Given the description of an element on the screen output the (x, y) to click on. 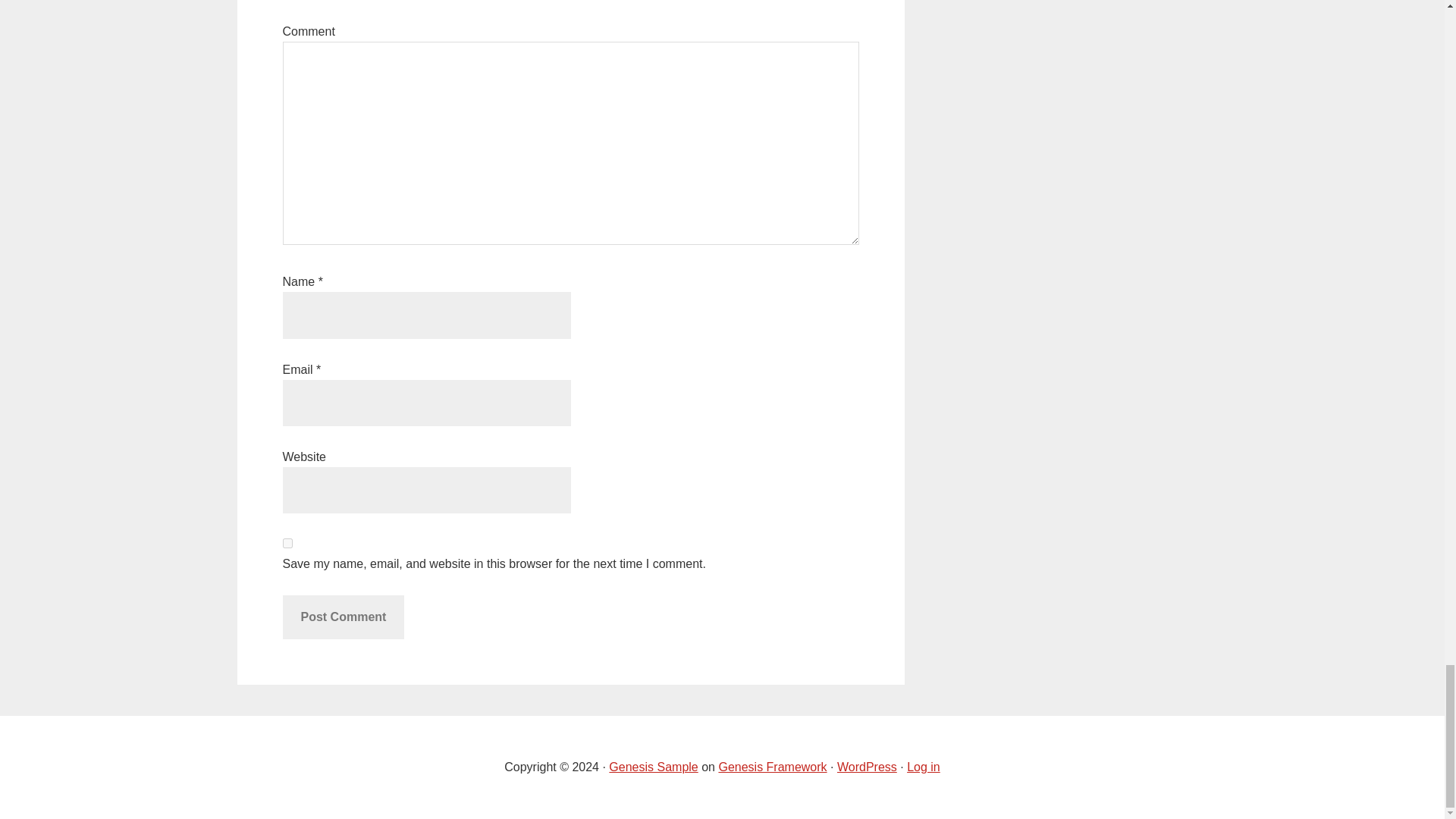
yes (287, 542)
Post Comment (343, 617)
Post Comment (343, 617)
